Given the description of an element on the screen output the (x, y) to click on. 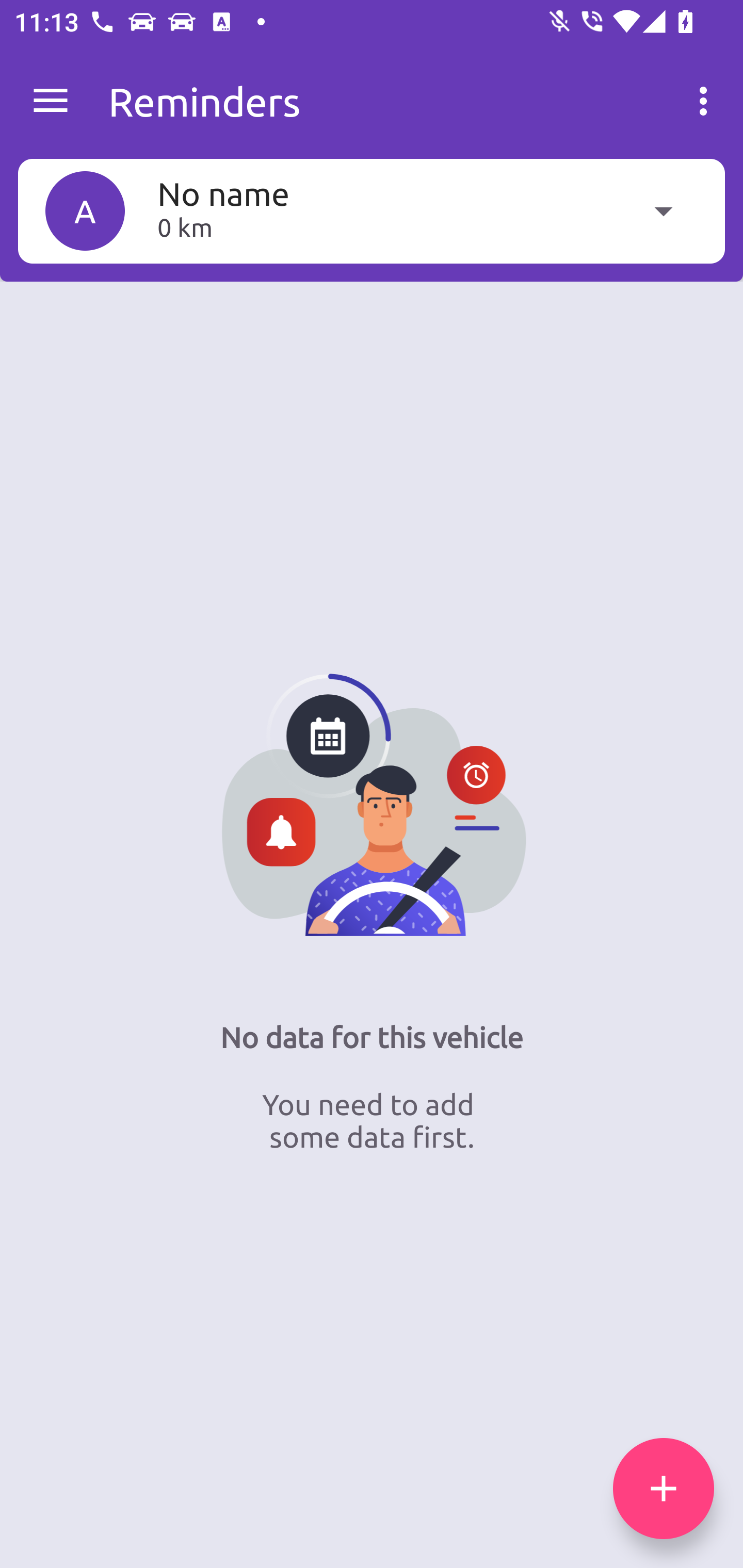
Fuelio (50, 101)
More options (706, 101)
A No name 0 km (371, 210)
